Given the description of an element on the screen output the (x, y) to click on. 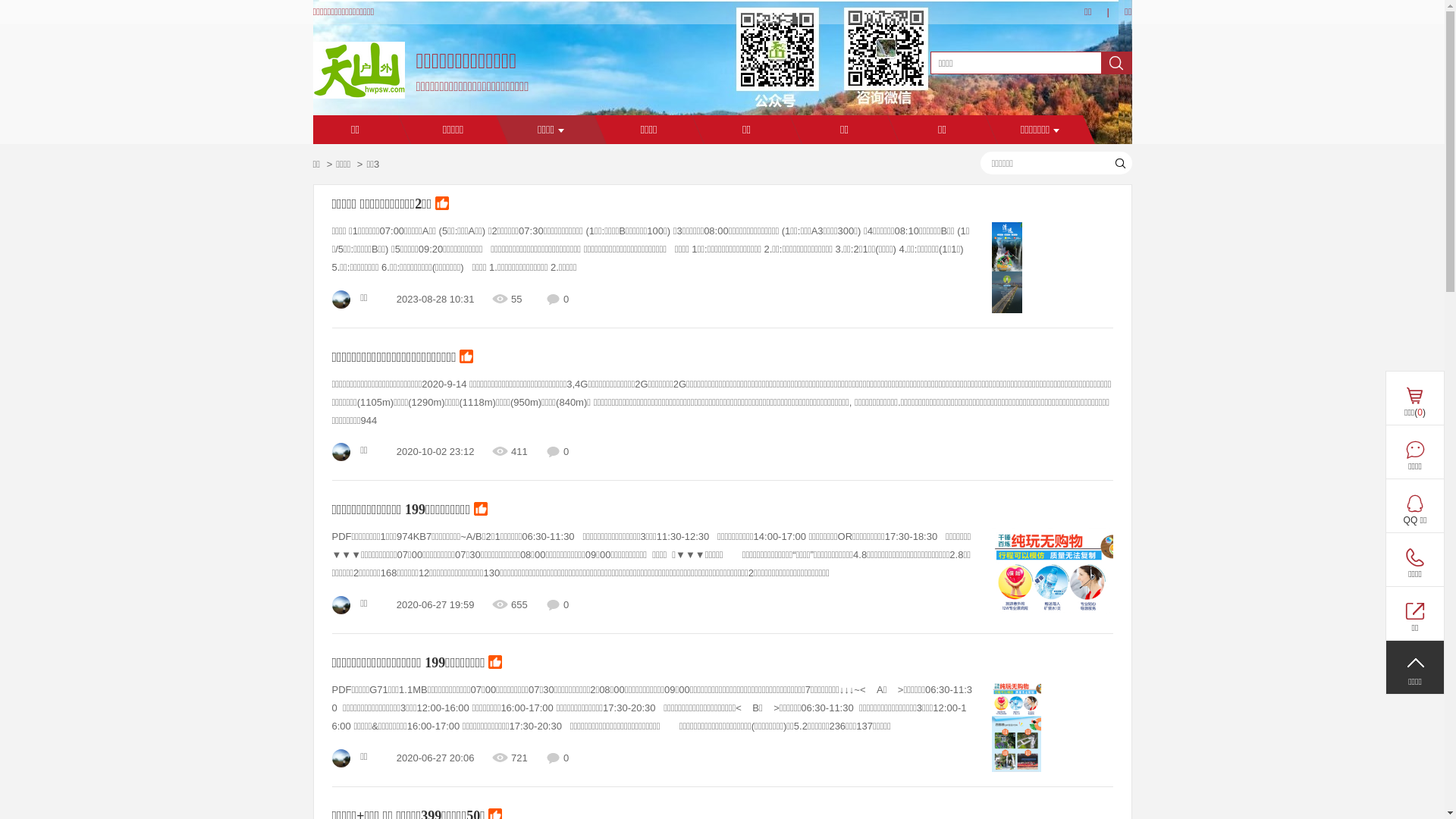
0 Element type: text (1413, 613)
